Given the description of an element on the screen output the (x, y) to click on. 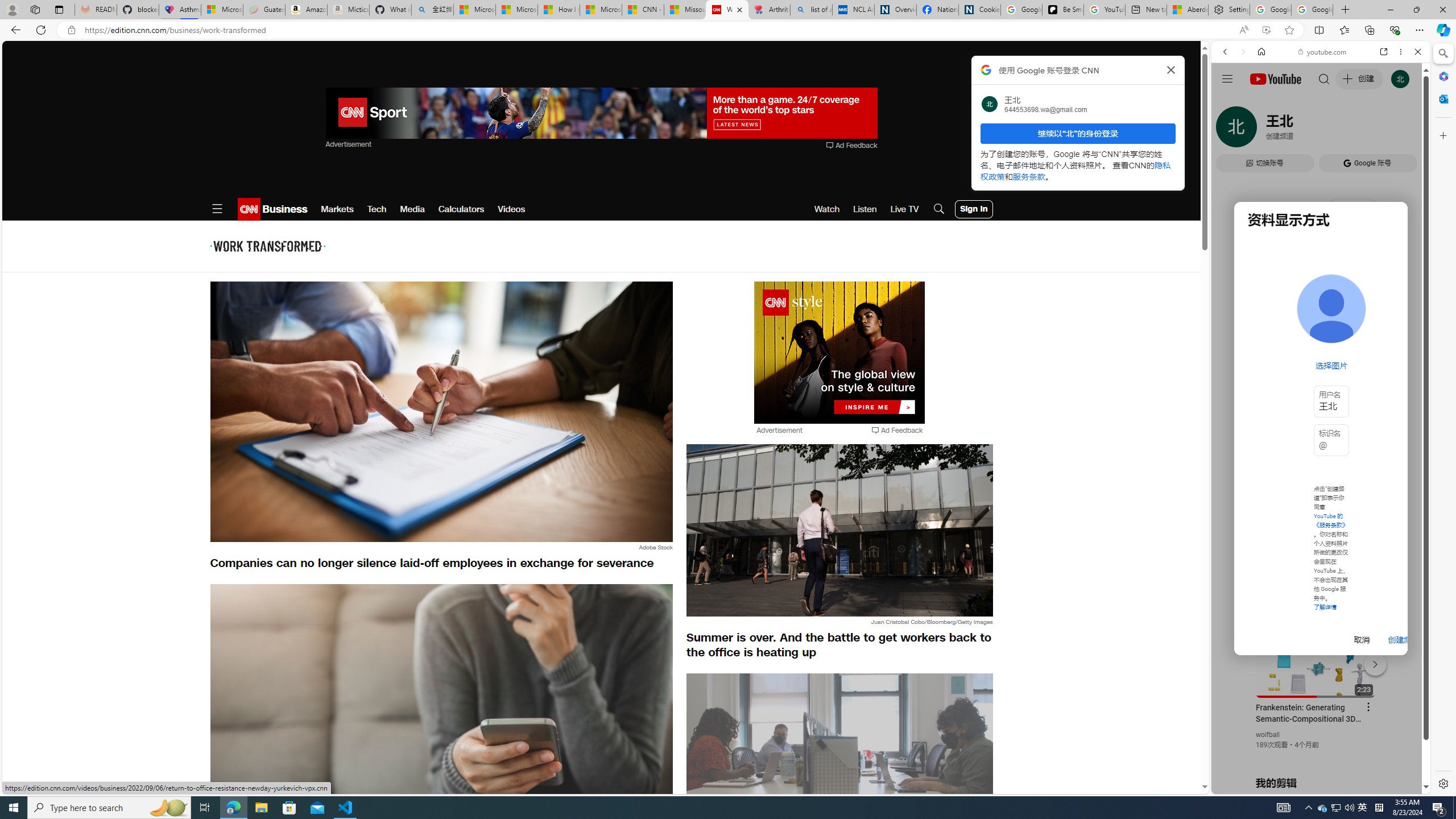
02 employee signing documents STOCK Adobe Stock (440, 418)
02 employee signing documents STOCK (440, 411)
Search Filter, IMAGES (1262, 129)
Media (412, 209)
Work Transformed (266, 245)
